Given the description of an element on the screen output the (x, y) to click on. 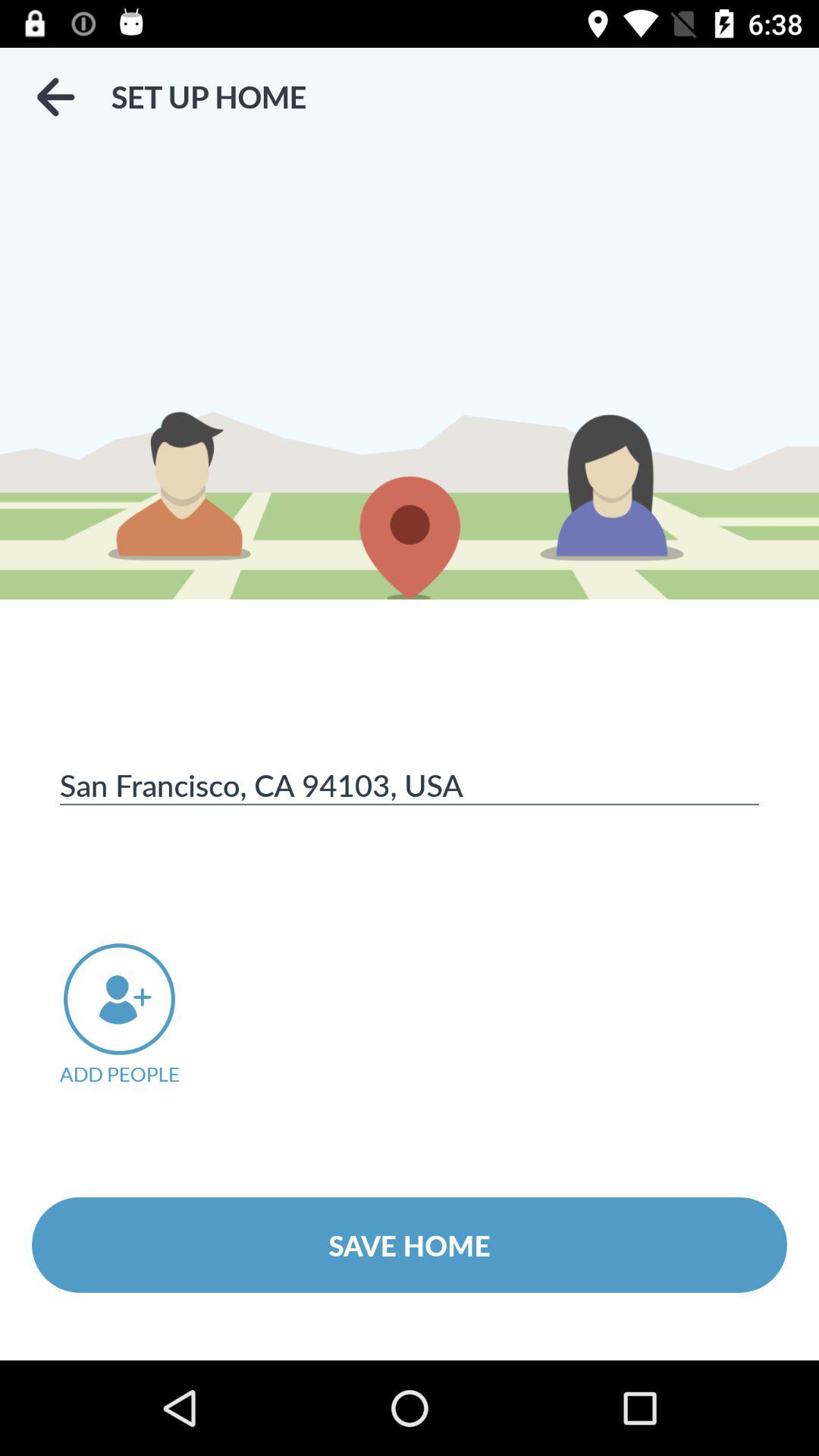
turn off item at the center (409, 784)
